Given the description of an element on the screen output the (x, y) to click on. 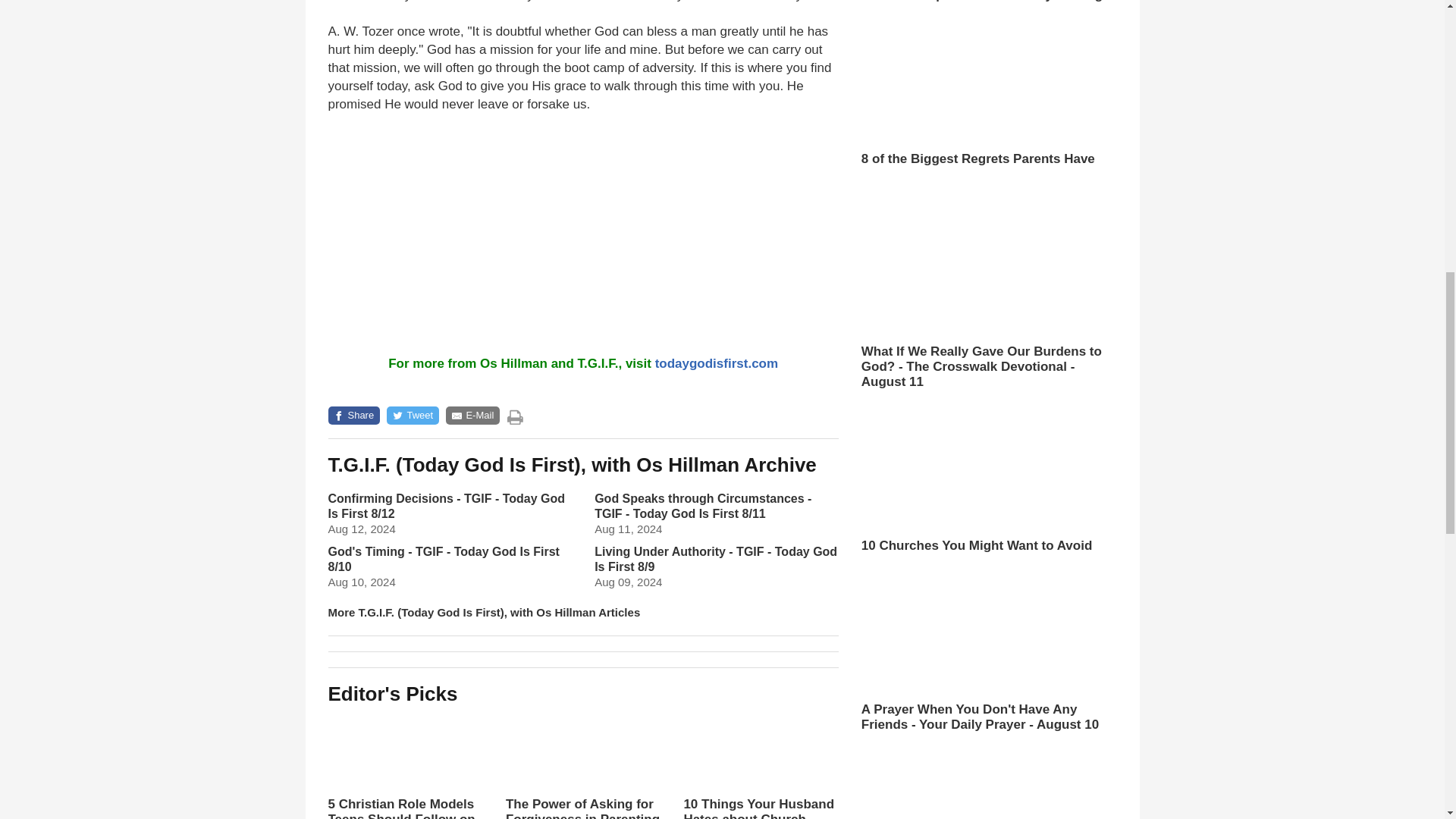
5 Christian Role Models Teens Should Follow on Social Media (404, 765)
The Power of Asking for Forgiveness in Parenting (583, 765)
10 Things Your Husband Hates about Church (760, 765)
